Given the description of an element on the screen output the (x, y) to click on. 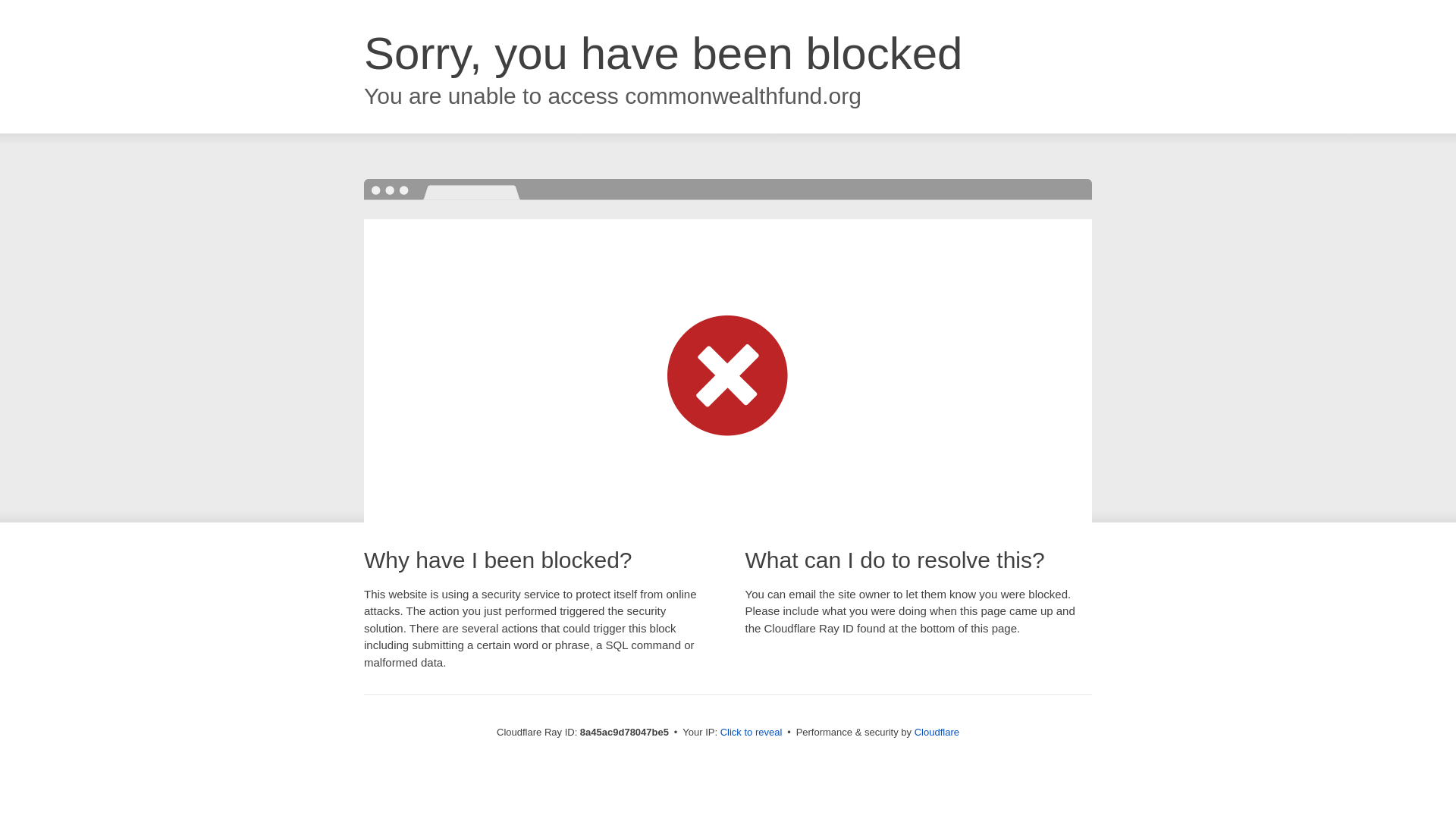
Click to reveal (751, 732)
Cloudflare (936, 731)
